Given the description of an element on the screen output the (x, y) to click on. 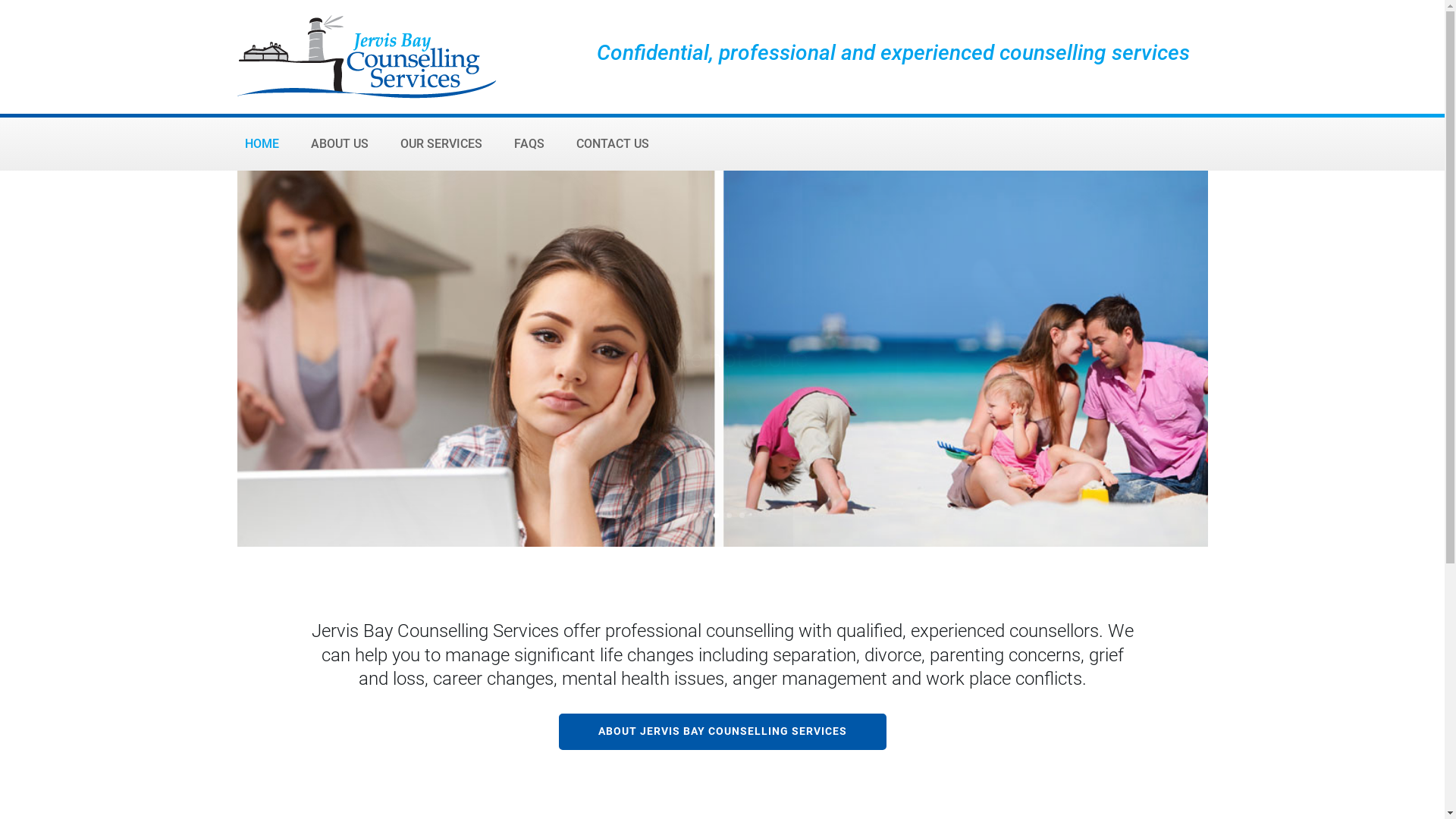
FAQS Element type: text (529, 146)
ABOUT JERVIS BAY COUNSELLING SERVICES Element type: text (721, 731)
CONTACT US Element type: text (612, 146)
1 Element type: text (703, 514)
jbcs-logo Element type: hover (365, 56)
HOME Element type: text (260, 146)
OUR SERVICES Element type: text (440, 146)
4 Element type: text (740, 514)
ABOUT US Element type: text (339, 146)
3 Element type: text (728, 514)
2 Element type: text (715, 514)
